Given the description of an element on the screen output the (x, y) to click on. 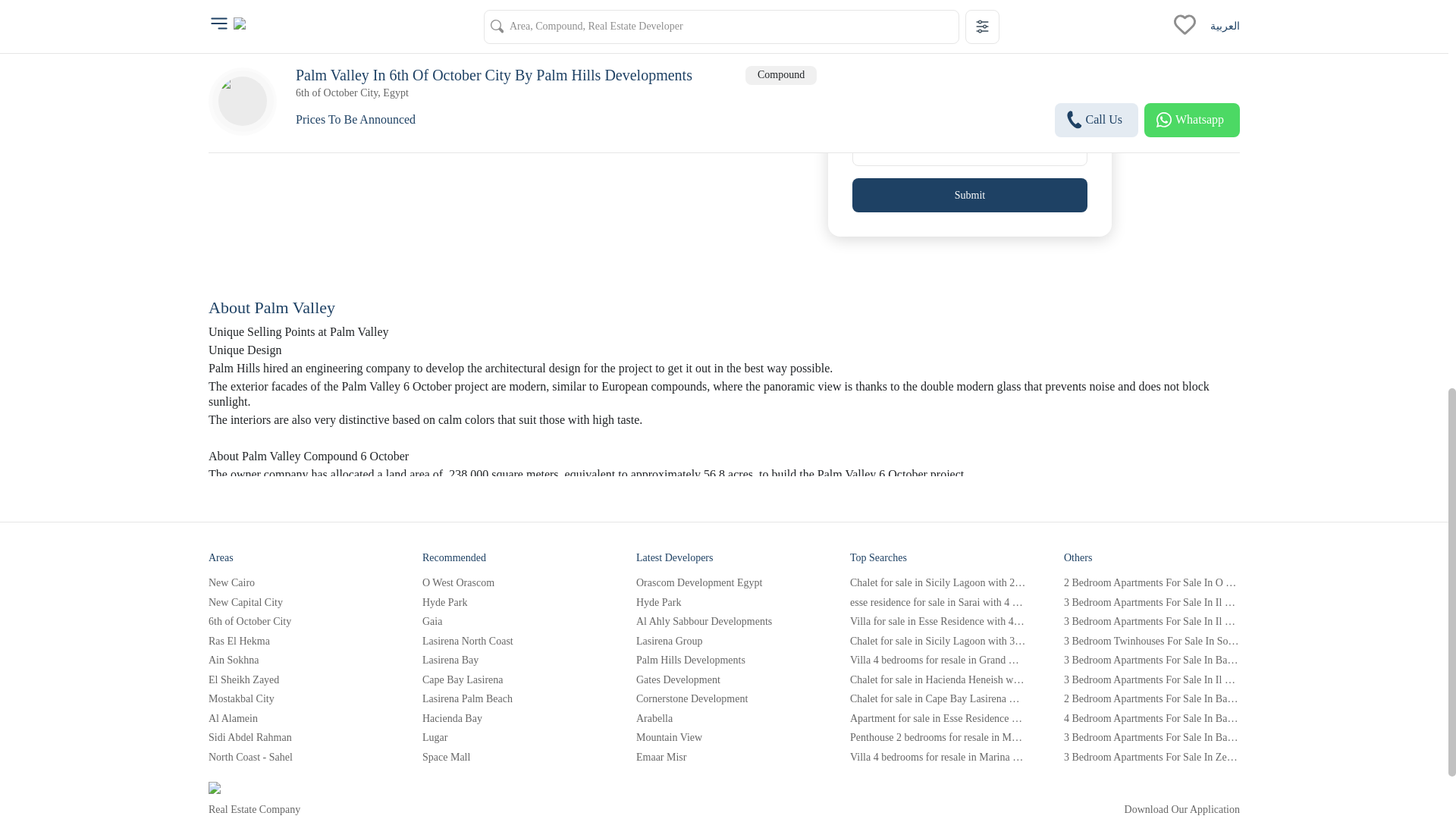
Gates Development (724, 680)
Lugar (510, 737)
El Sheikh Zayed (296, 680)
Orascom Development Egypt (724, 582)
Al Ahly Sabbour Developments (724, 621)
Hacienda Bay (510, 717)
Mostakbal City (296, 698)
Cape Bay Lasirena (510, 680)
New Cairo (296, 582)
Lasirena North Coast (510, 640)
Lasirena Group (724, 640)
Al Alamein (296, 717)
Cornerstone Development (724, 698)
Ain Sokhna (296, 660)
Submit (969, 195)
